Given the description of an element on the screen output the (x, y) to click on. 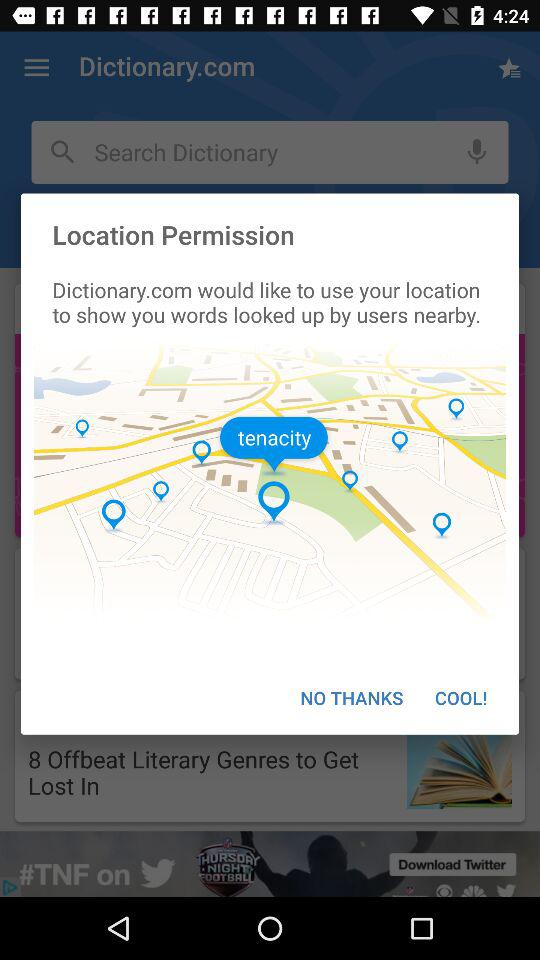
select item to the left of the cool! (351, 697)
